Given the description of an element on the screen output the (x, y) to click on. 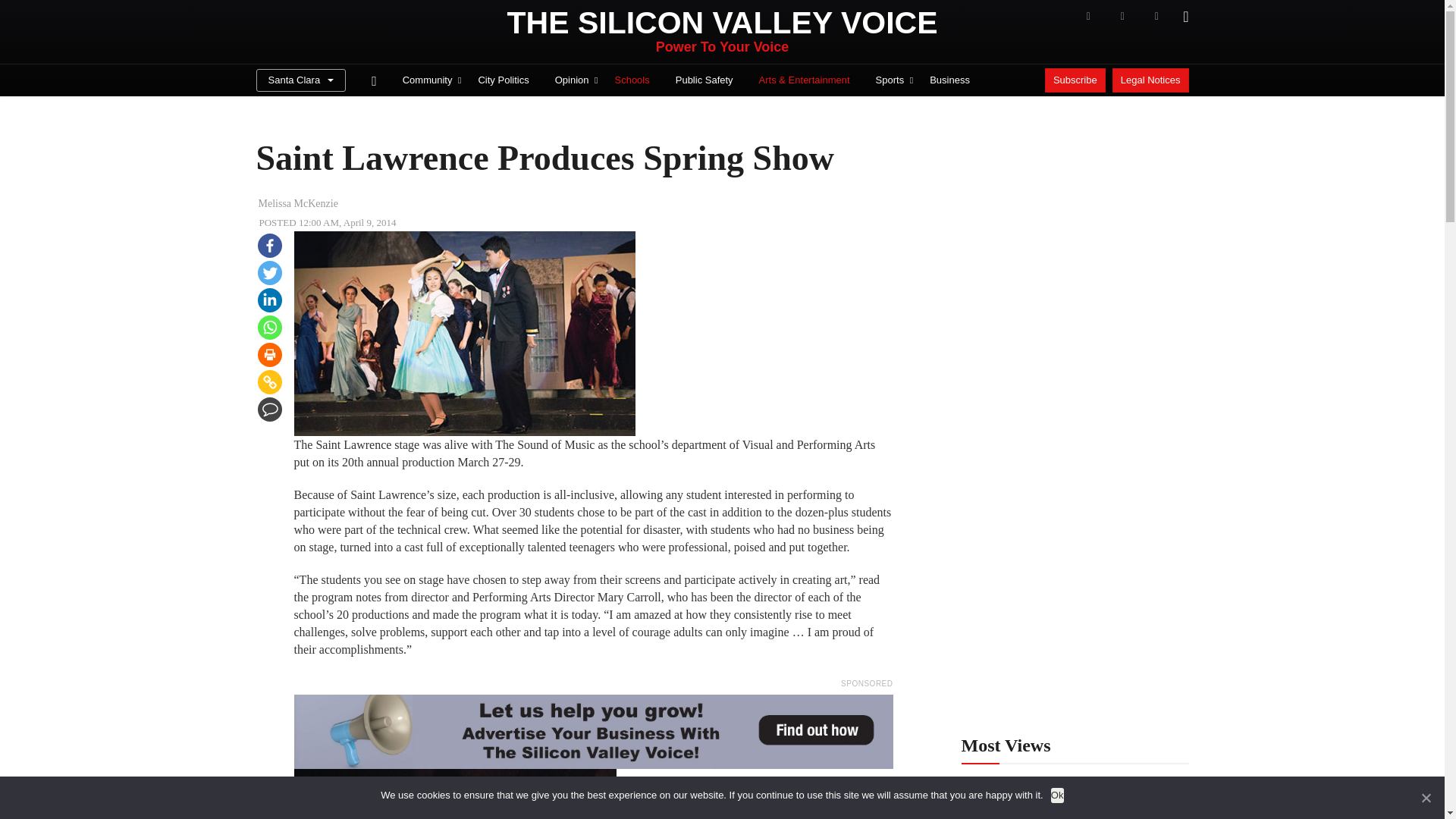
ion-social-twitter (1122, 15)
Print (269, 354)
ion-social-facebook (1088, 15)
Santa Clara (301, 80)
Saint Lawrence Produces Spring Show (464, 332)
Whatsapp (269, 327)
Posts by Melissa McKenzie (297, 203)
THE SILICON VALLEY VOICE (721, 22)
ion-social-instagram (1155, 15)
Community (427, 80)
Copy Link (269, 381)
Saint Lawrence Produces Spring Show (454, 794)
Comment (269, 409)
Linkedin (269, 300)
Twitter (269, 273)
